Given the description of an element on the screen output the (x, y) to click on. 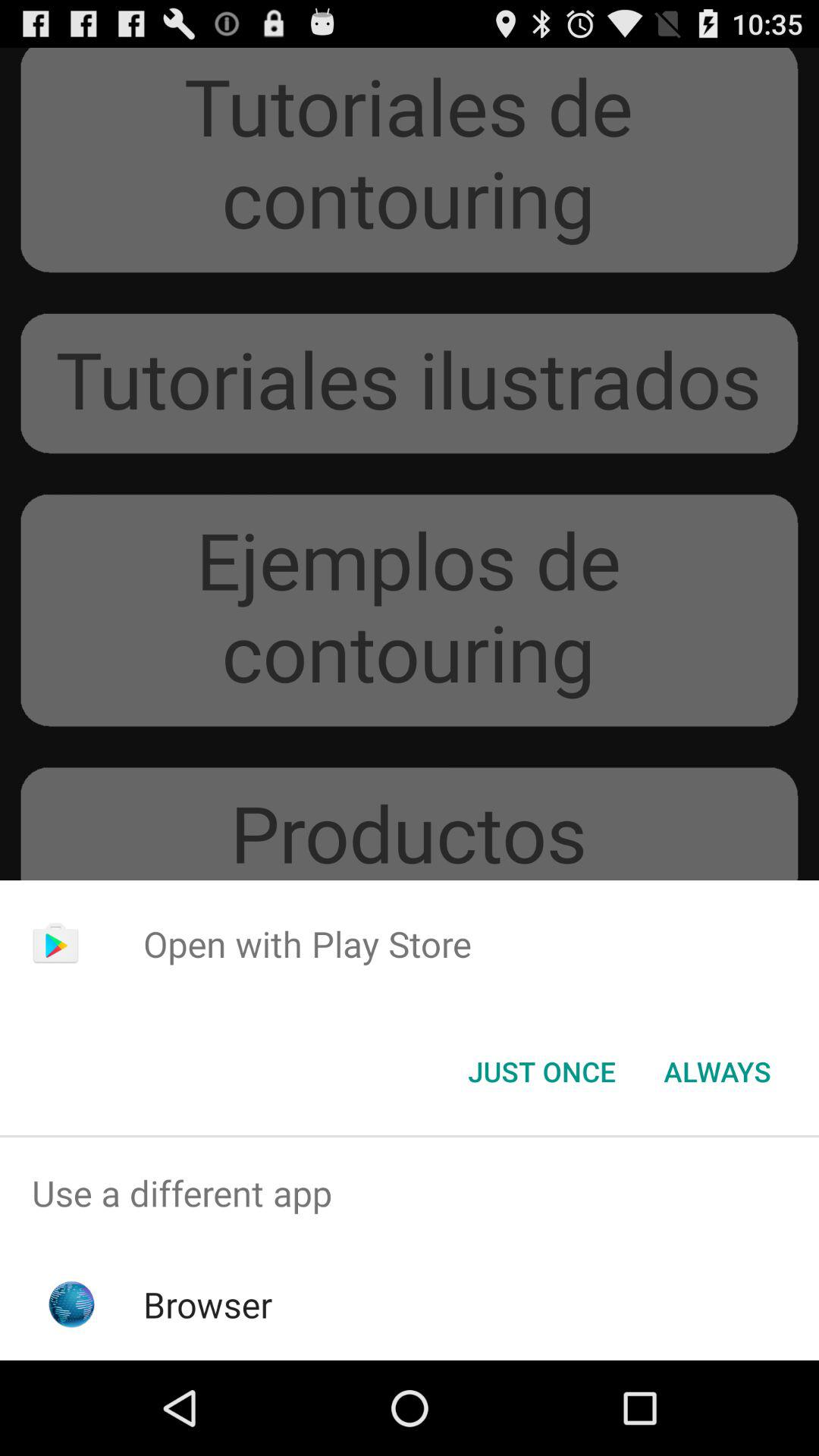
press icon next to always button (541, 1071)
